Given the description of an element on the screen output the (x, y) to click on. 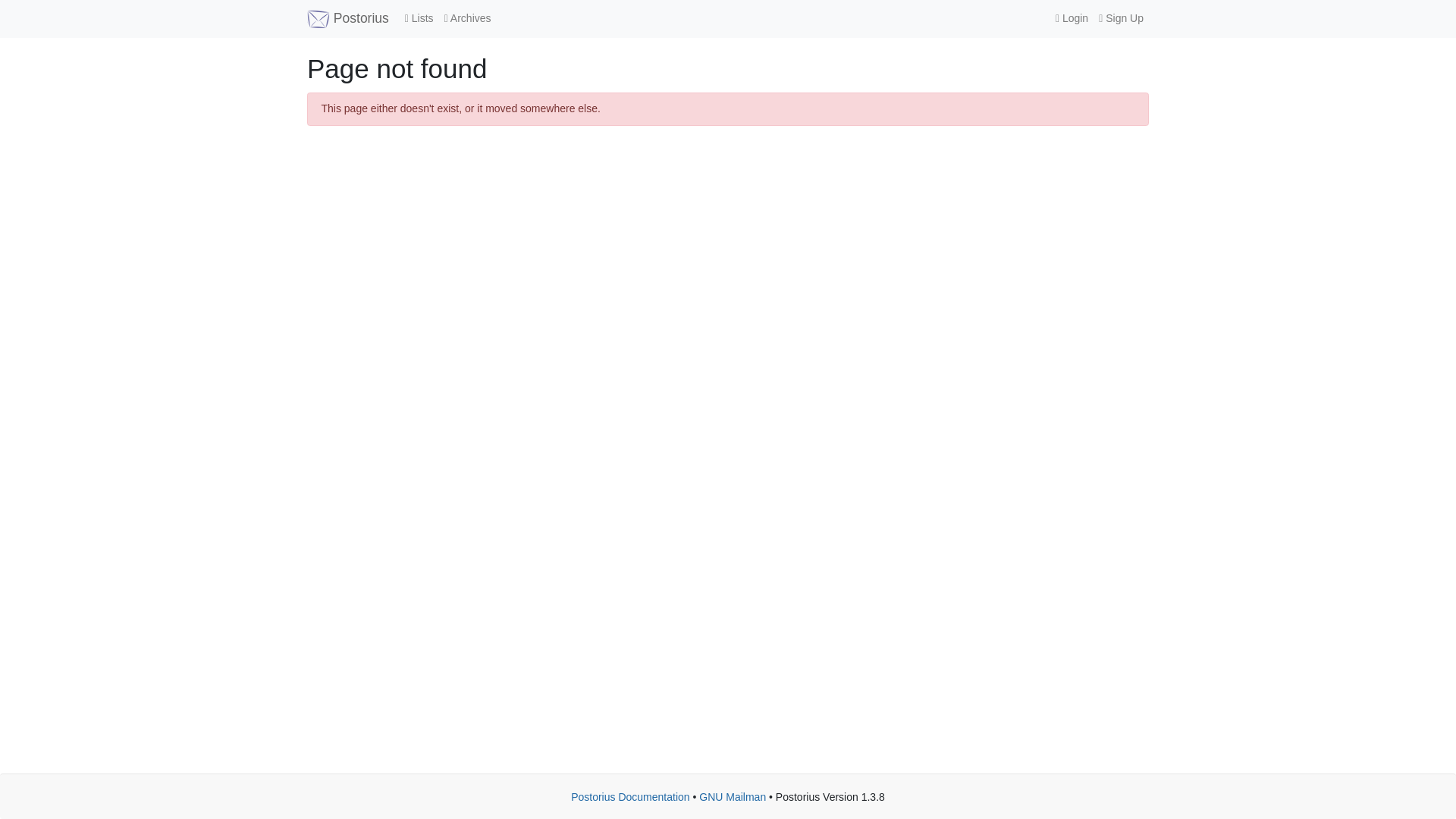
Login (1071, 17)
Archives (467, 17)
Sign Up (1120, 17)
Postorius (347, 18)
Lists (418, 17)
